Given the description of an element on the screen output the (x, y) to click on. 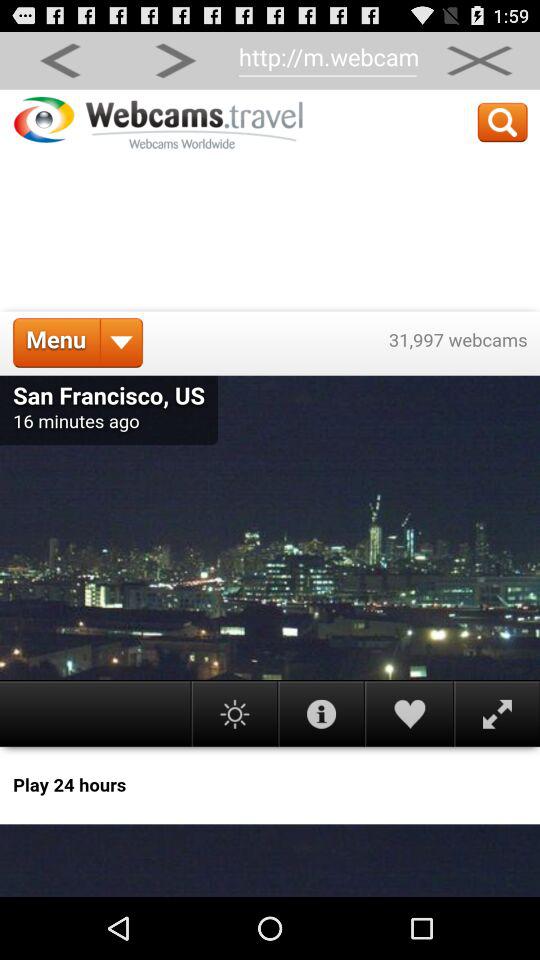
close (479, 60)
